Given the description of an element on the screen output the (x, y) to click on. 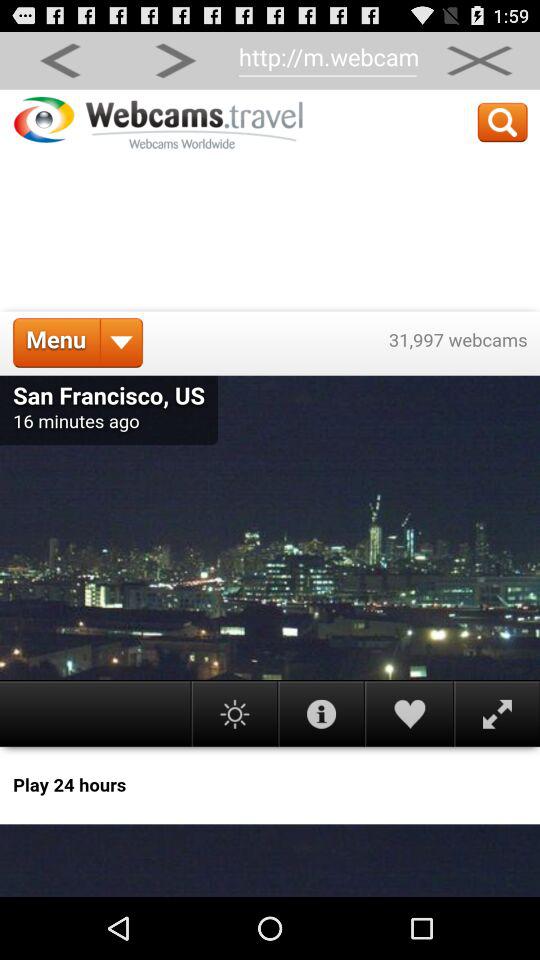
close (479, 60)
